Given the description of an element on the screen output the (x, y) to click on. 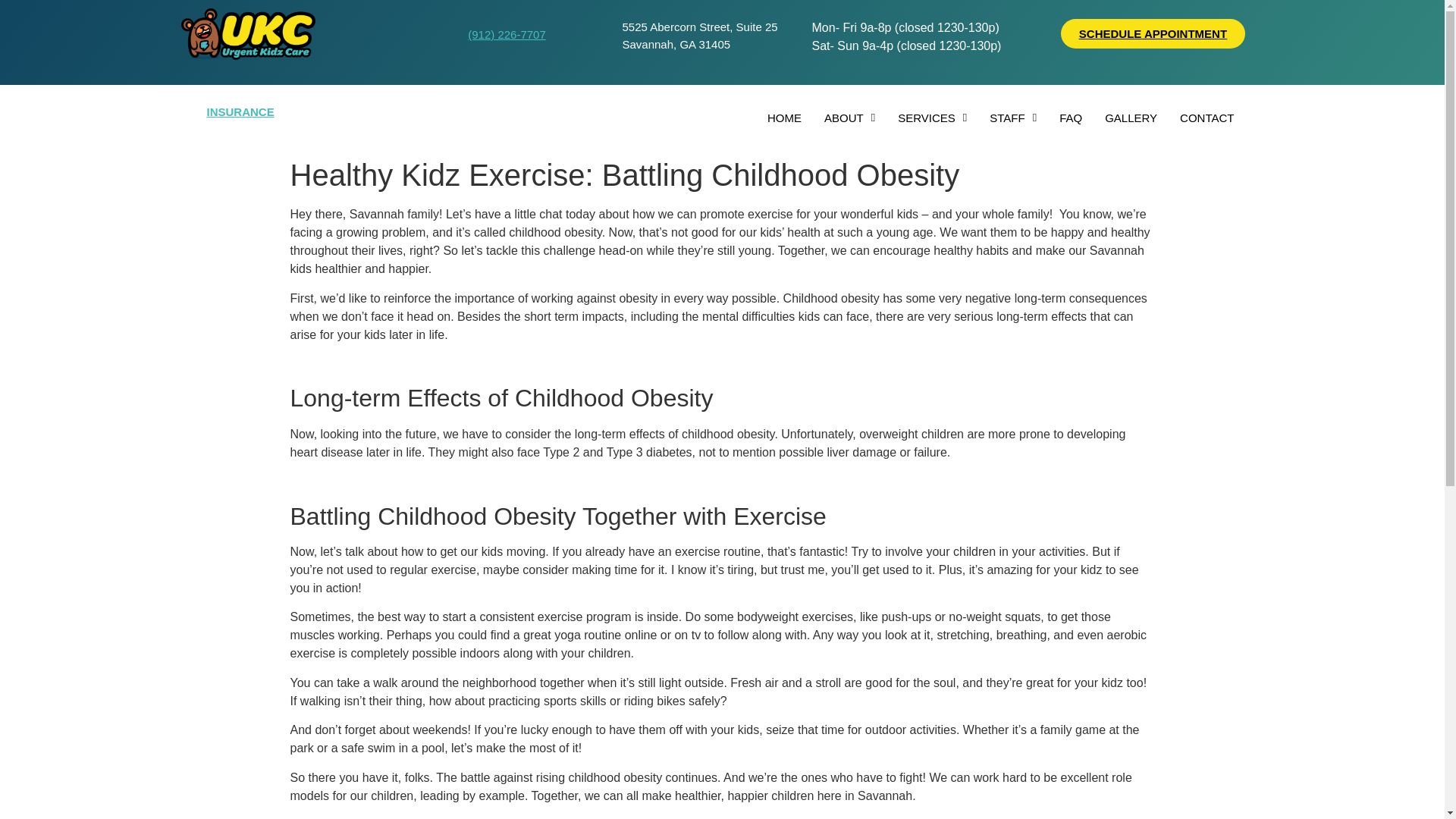
CONTACT (1206, 118)
SCHEDULE APPOINTMENT (1152, 33)
ABOUT (849, 118)
INSURANCE (239, 111)
HOME (783, 118)
SERVICES (932, 118)
STAFF (1013, 118)
GALLERY (1131, 118)
FAQ (1070, 118)
